Given the description of an element on the screen output the (x, y) to click on. 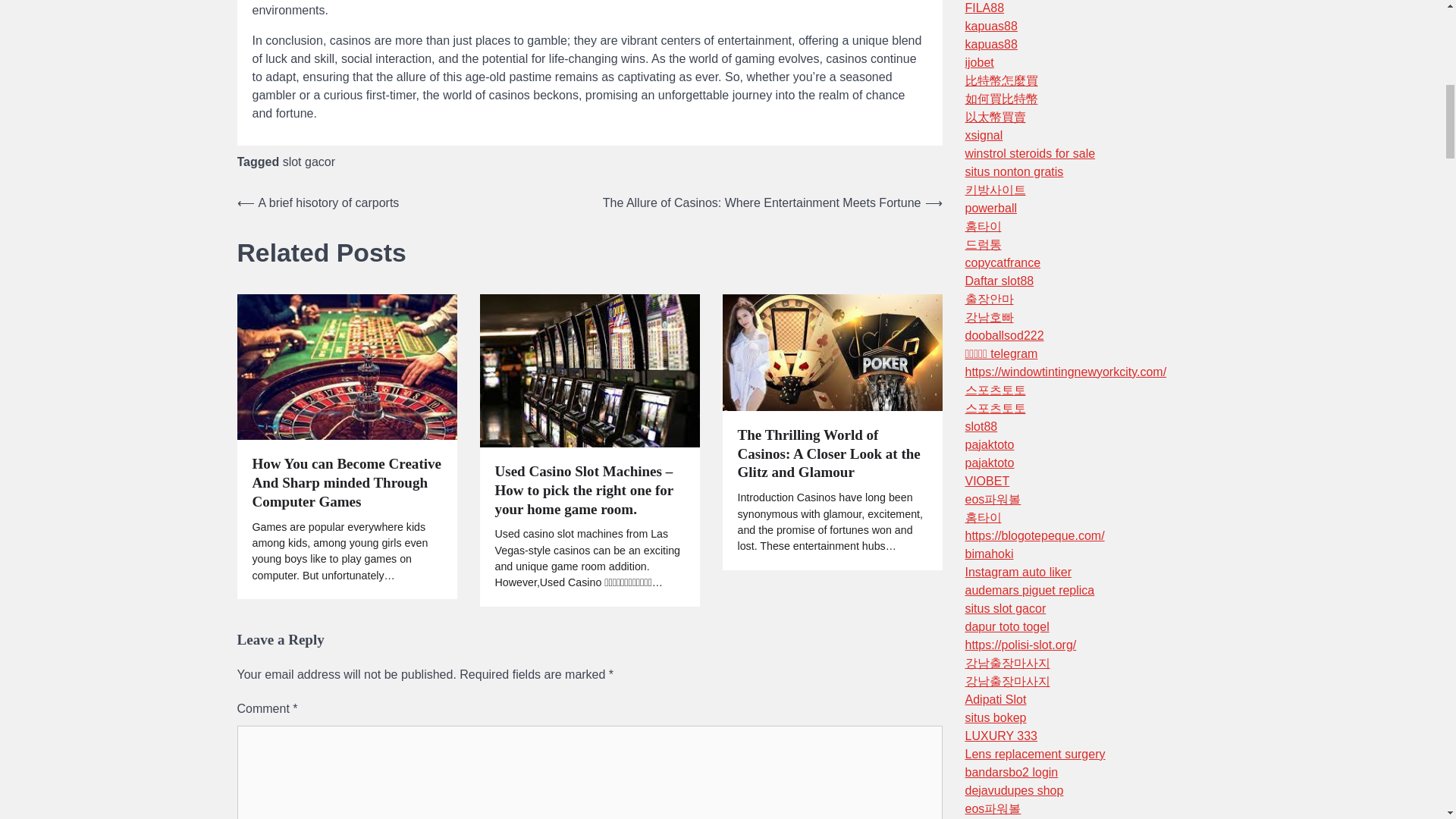
slot gacor (308, 160)
